Given the description of an element on the screen output the (x, y) to click on. 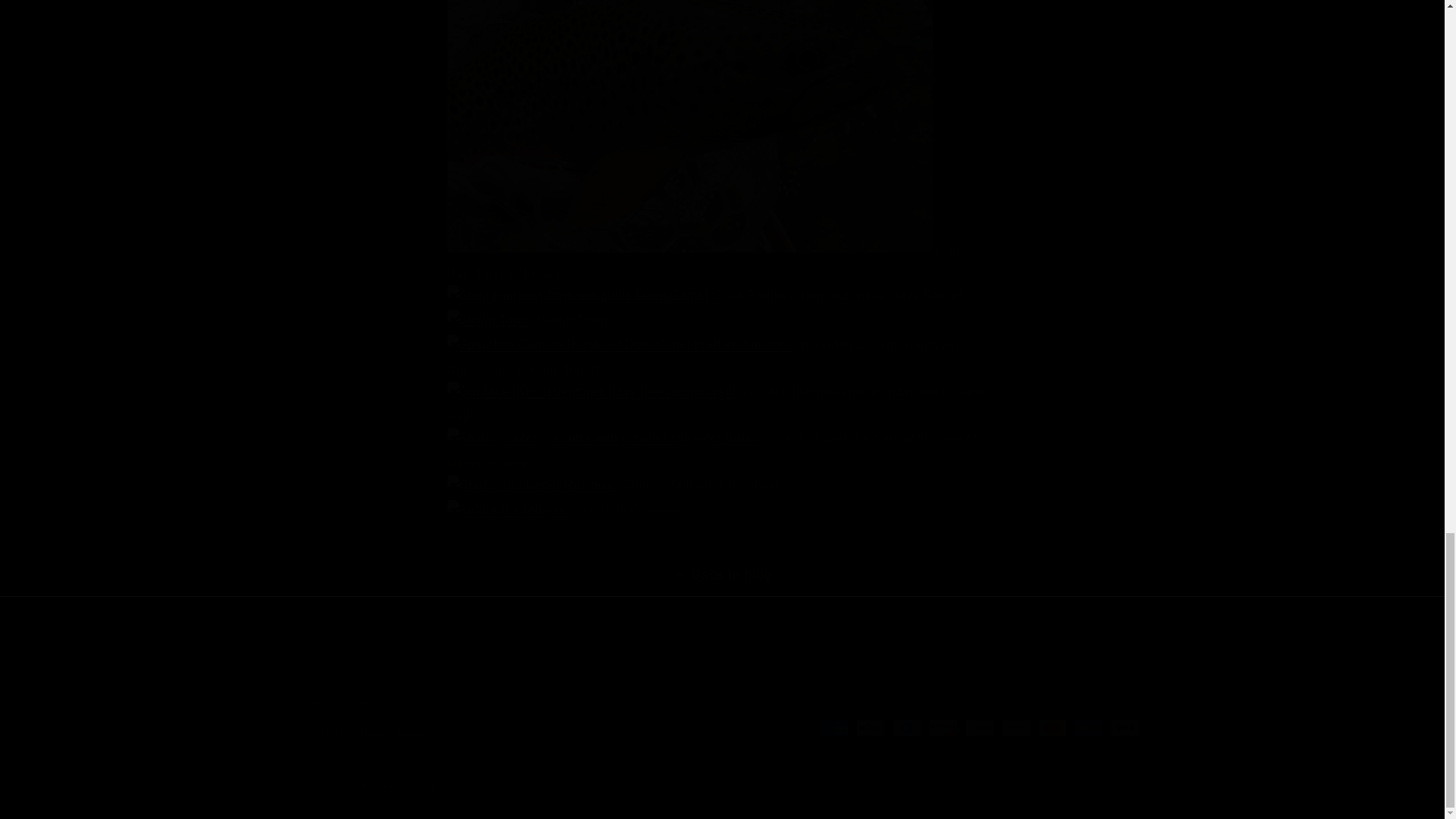
Powered by Shopify (482, 786)
Refund policy (567, 786)
Gazillionaire Girl Gang (389, 786)
